Given the description of an element on the screen output the (x, y) to click on. 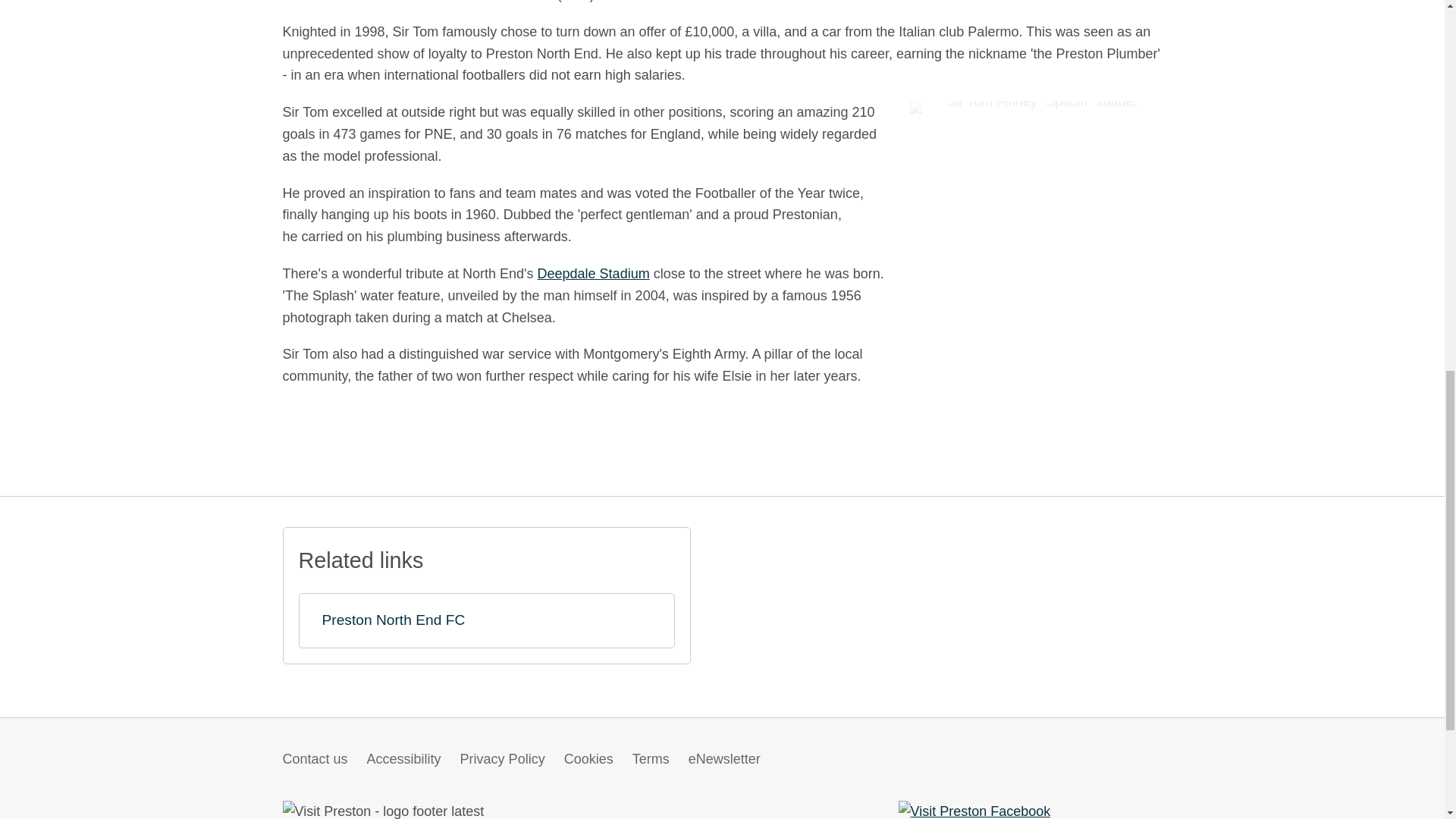
eNewsletter (724, 758)
Visit Preston Facebook : opens on new browser window or tab (973, 811)
Contact us (314, 758)
Privacy Policy (502, 758)
Preston North End FC (486, 620)
Deepdale Stadium (593, 273)
Cookies (588, 758)
Terms (650, 758)
Accessibility (403, 758)
